Given the description of an element on the screen output the (x, y) to click on. 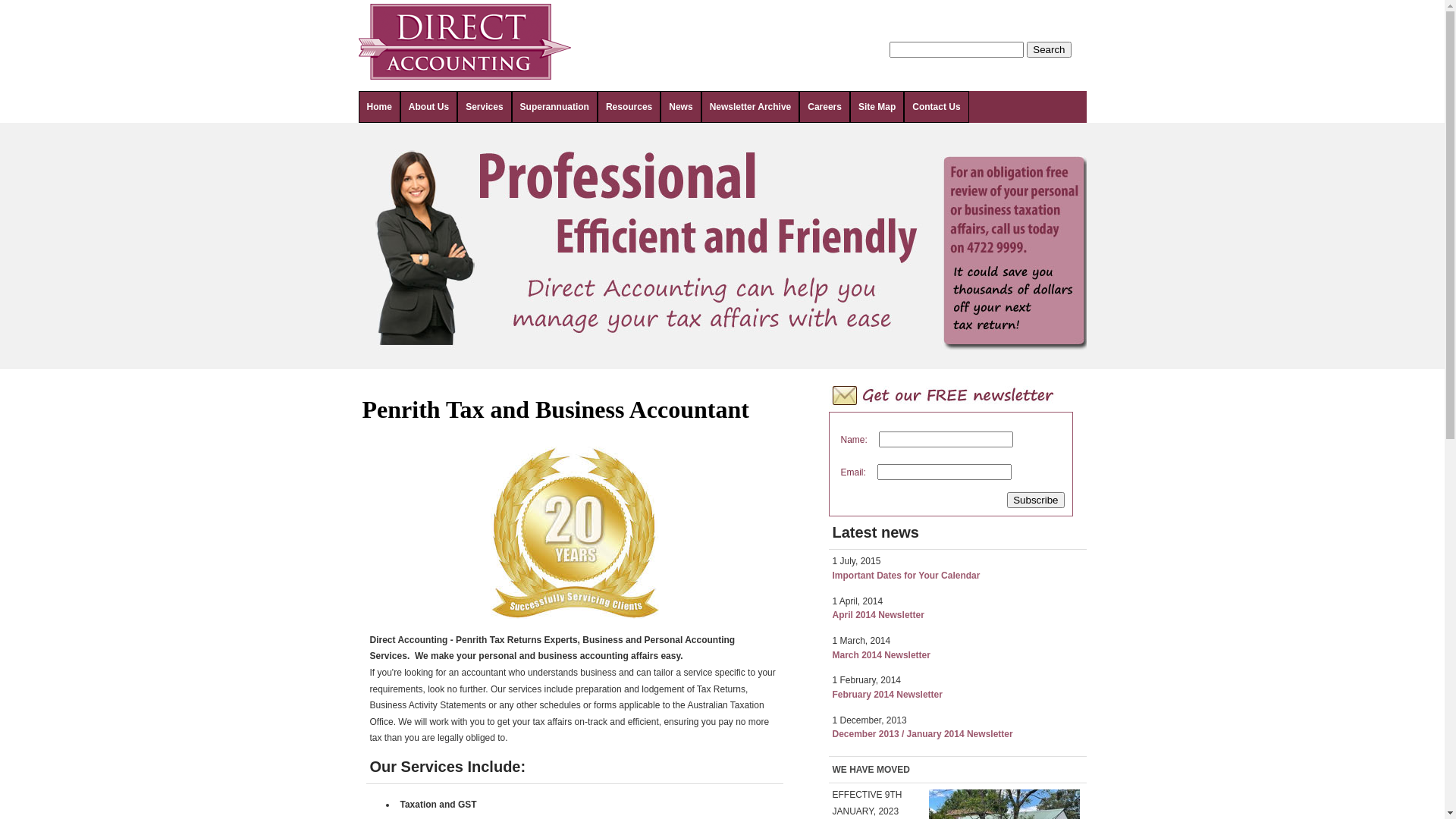
News Element type: text (680, 106)
Services Element type: text (484, 106)
Search Element type: text (1048, 49)
March 2014 Newsletter Element type: text (881, 654)
Newsletter Archive Element type: text (750, 106)
Subscribe Element type: text (1035, 500)
Important Dates for Your Calendar Element type: text (906, 575)
April 2014 Newsletter Element type: text (878, 614)
Home Element type: text (378, 106)
Resources Element type: text (628, 106)
December 2013 / January 2014 Newsletter Element type: text (922, 733)
Careers Element type: text (824, 106)
Superannuation Element type: text (554, 106)
February 2014 Newsletter Element type: text (887, 694)
Site Map Element type: text (876, 106)
About Us Element type: text (428, 106)
Contact Us Element type: text (935, 106)
